Given the description of an element on the screen output the (x, y) to click on. 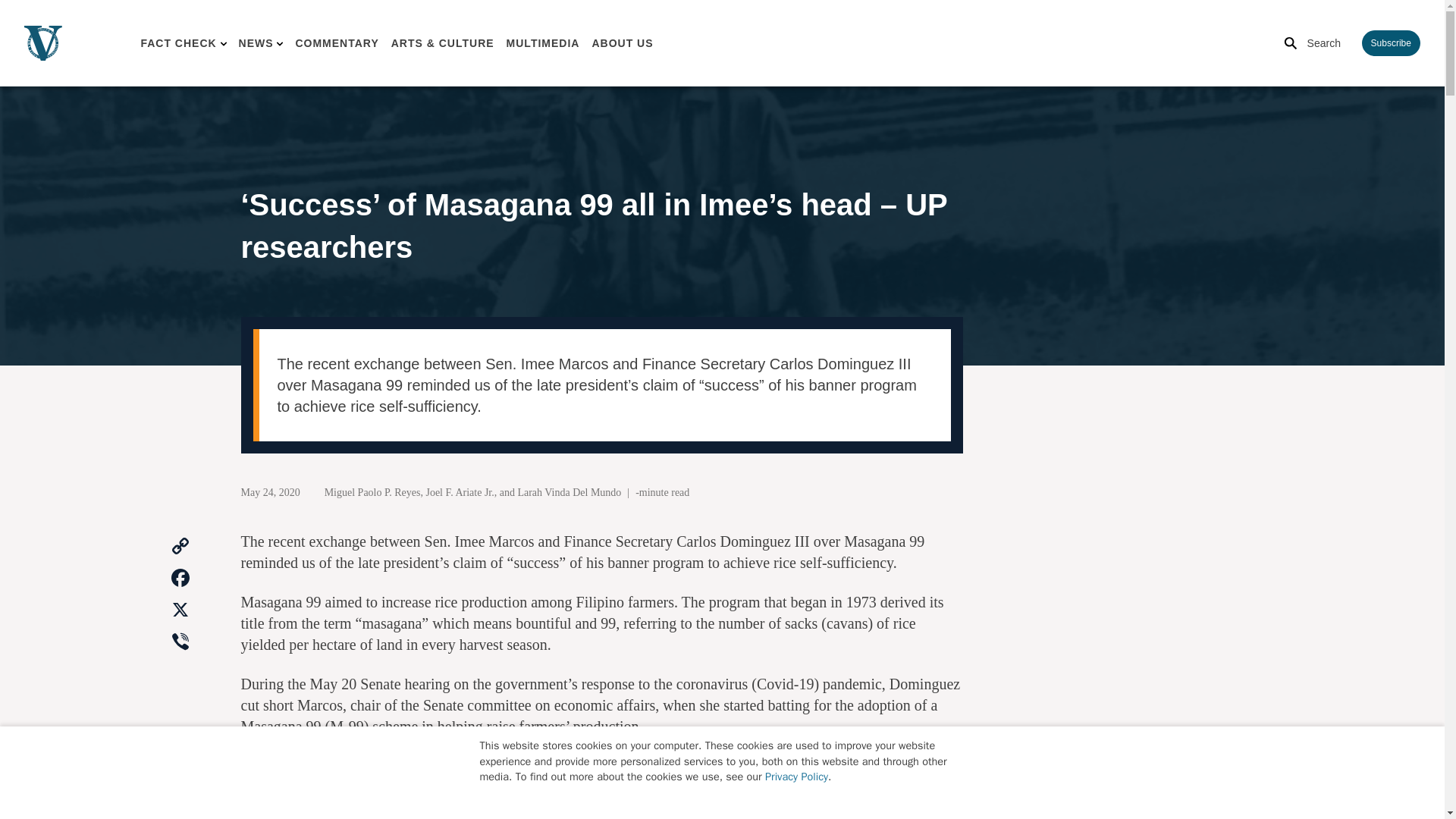
Facebook (180, 578)
MULTIMEDIA (542, 42)
Viber (180, 642)
Copy Link (180, 546)
X (180, 610)
NEWS (255, 42)
Viber (180, 642)
FACT CHECK (177, 42)
Subscribe (1391, 43)
X (180, 610)
Facebook (180, 578)
COMMENTARY (336, 42)
Copy Link (180, 546)
ABOUT US (621, 42)
